Given the description of an element on the screen output the (x, y) to click on. 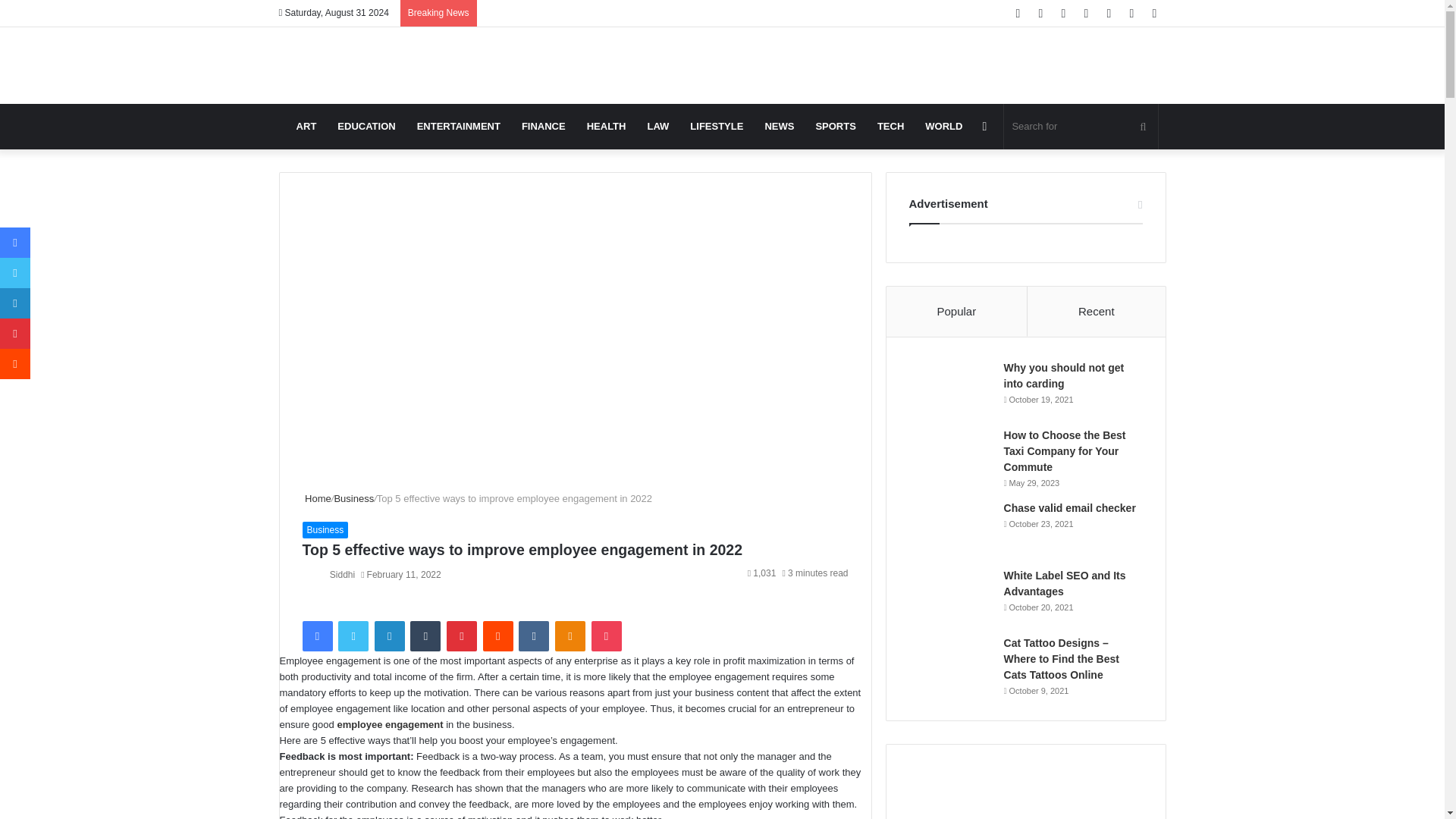
TECH (890, 126)
Pocket (606, 635)
Twitter (352, 635)
LIFESTYLE (716, 126)
Siddhi (342, 574)
EDUCATION (366, 126)
Facebook (316, 635)
Siddhi (342, 574)
LinkedIn (389, 635)
Facebook (316, 635)
